Given the description of an element on the screen output the (x, y) to click on. 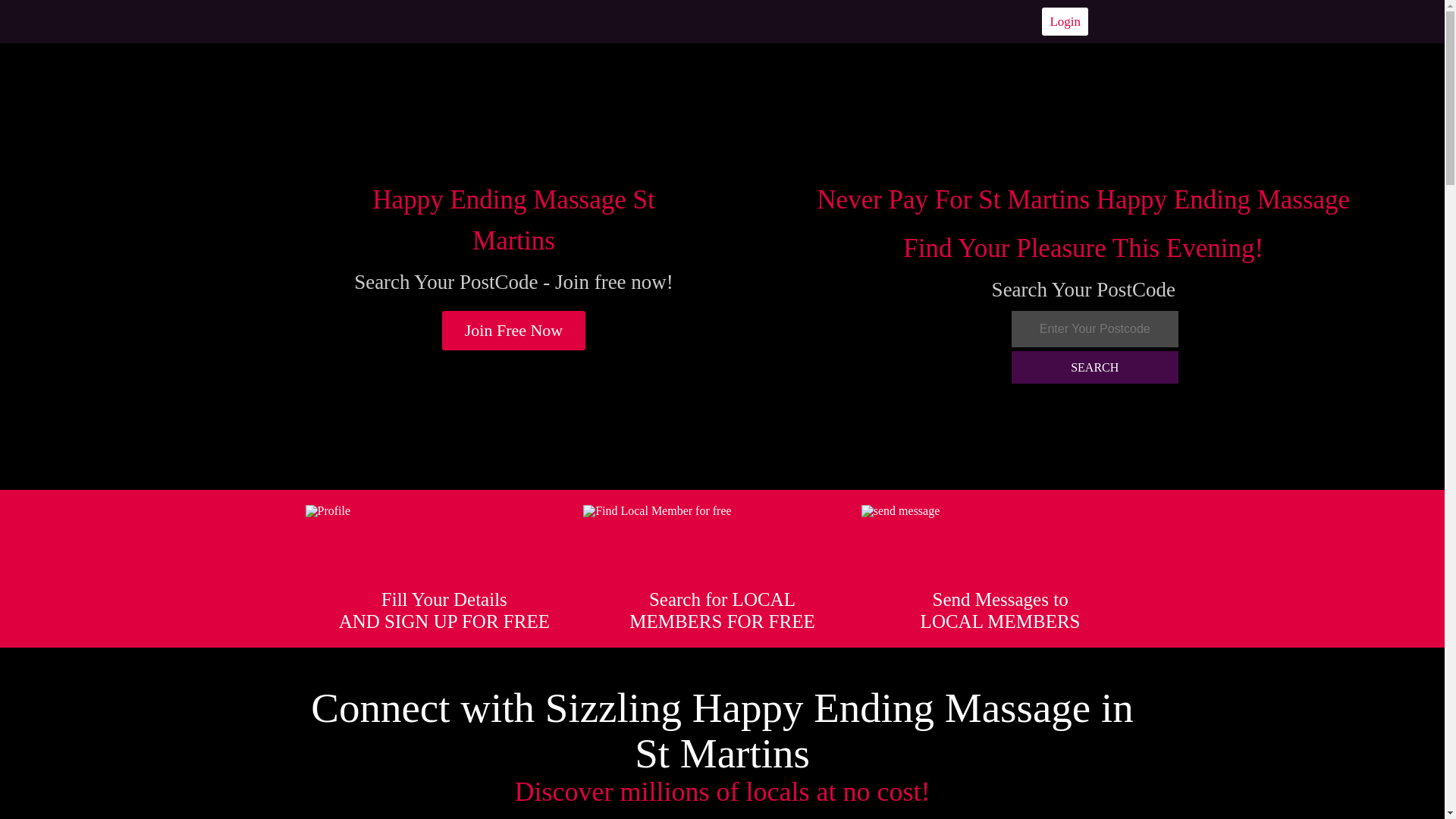
SEARCH (1094, 367)
Login (1064, 21)
Join (514, 330)
Login (1064, 21)
Join Free Now (514, 330)
